Given the description of an element on the screen output the (x, y) to click on. 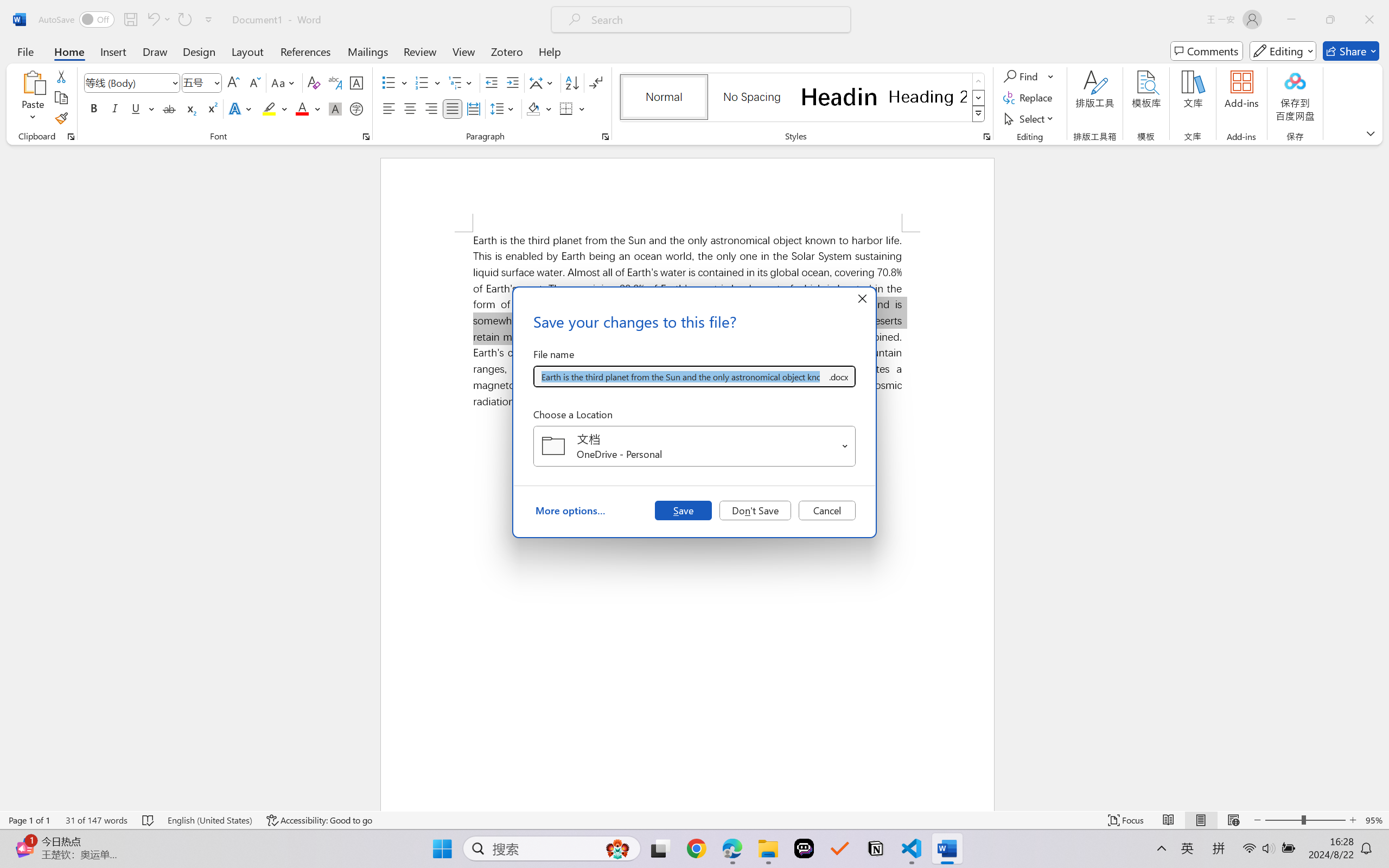
Styles... (986, 136)
Bold (94, 108)
Class: MsoCommandBar (694, 819)
Class: NetUIScrollBar (1382, 477)
Poe (804, 848)
Line up (1382, 151)
